Given the description of an element on the screen output the (x, y) to click on. 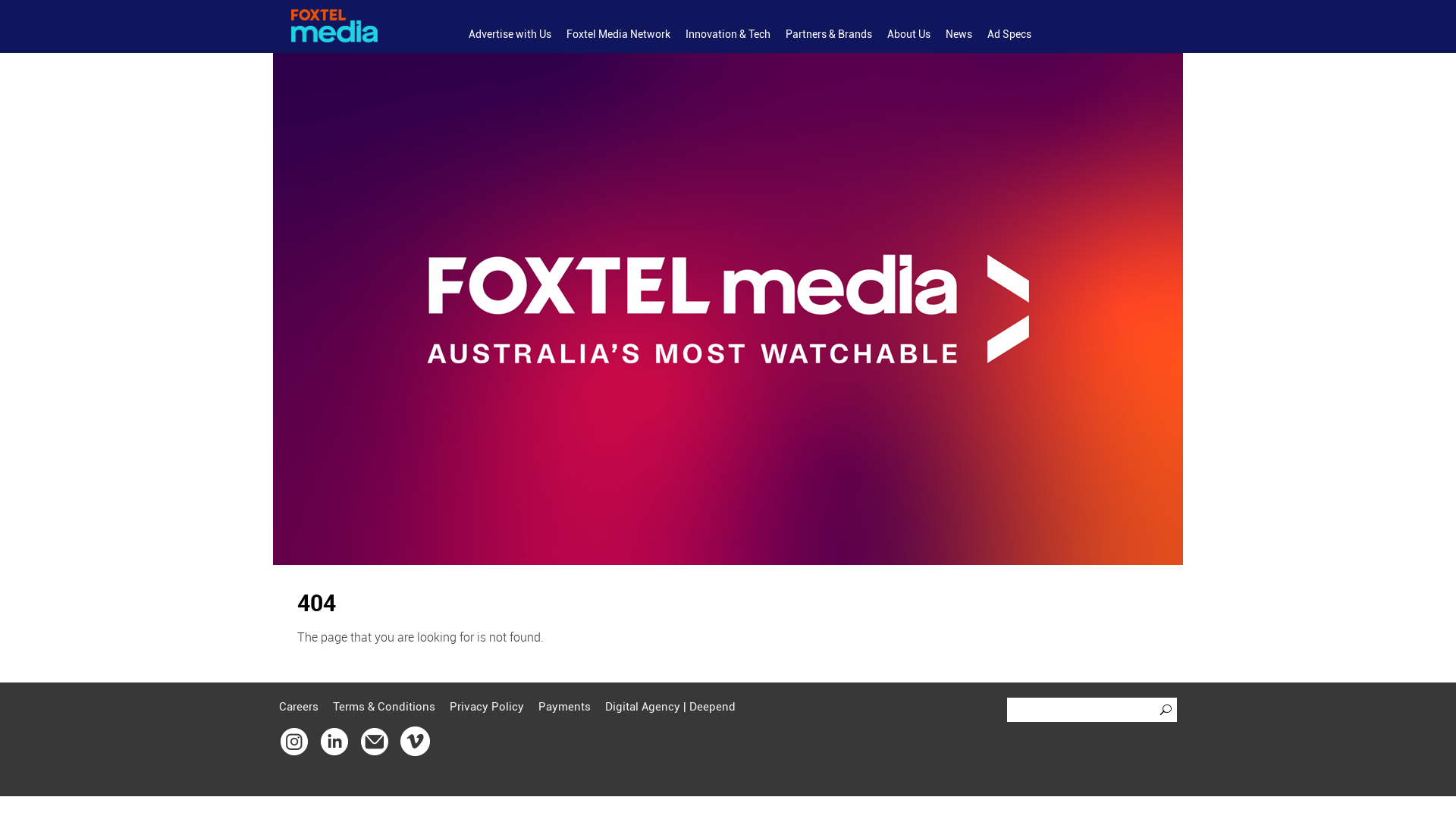
News Element type: text (958, 34)
About Us Element type: text (908, 34)
Click to search. Element type: text (1167, 709)
Payments Element type: text (564, 706)
Advertise with Us Element type: text (509, 34)
Digital Agency | Deepend Element type: text (670, 706)
Privacy Policy Element type: text (486, 706)
Careers Element type: text (298, 706)
Foxtel Media Network Element type: text (617, 34)
Terms & Conditions Element type: text (383, 706)
Partners & Brands Element type: text (828, 34)
Innovation & Tech Element type: text (727, 34)
Ad Specs Element type: text (1008, 34)
